Given the description of an element on the screen output the (x, y) to click on. 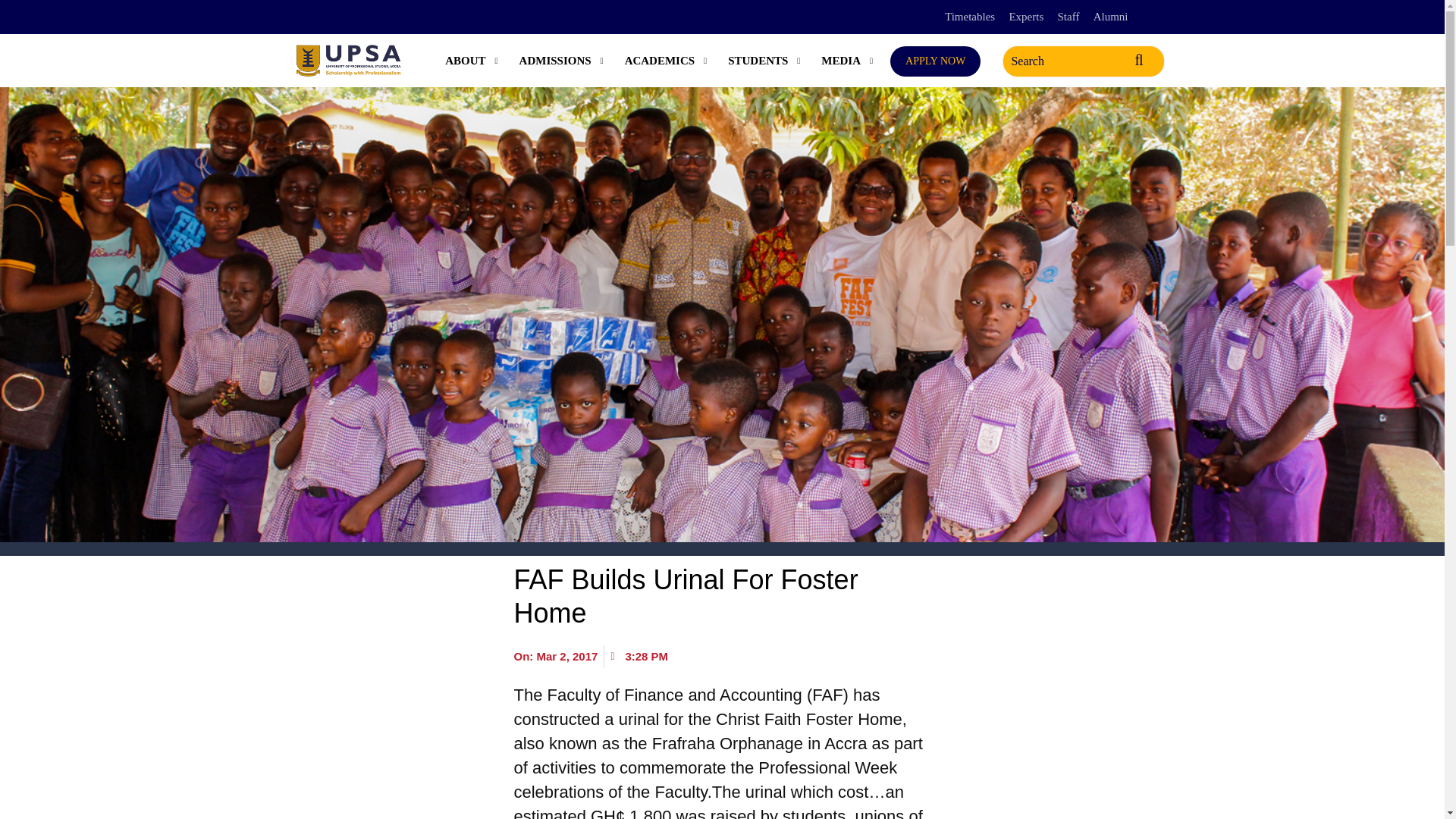
Experts (1026, 16)
UPSA - University of Professional Studies, Accra (347, 60)
Alumni (1110, 16)
Timetables (969, 16)
Staff (1069, 16)
